Given the description of an element on the screen output the (x, y) to click on. 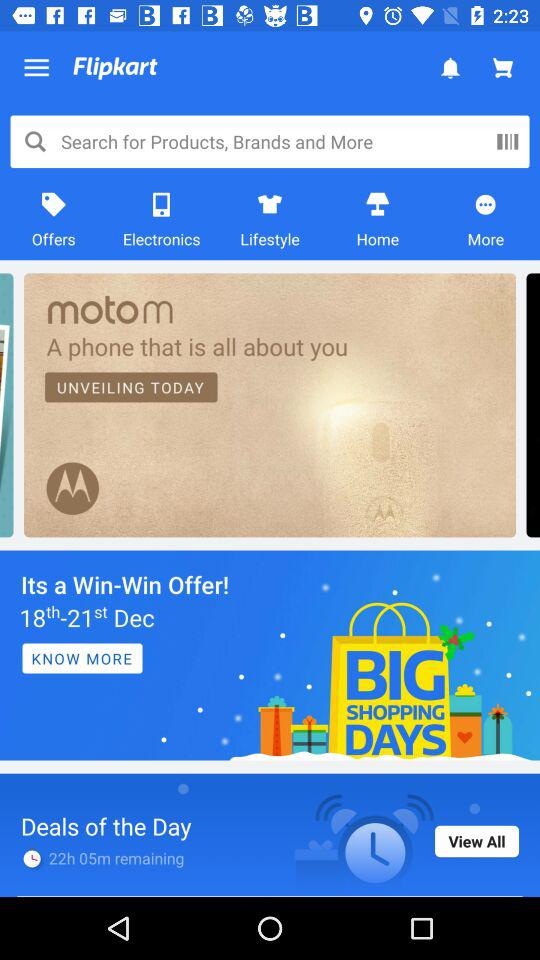
shopping advertisement (270, 655)
